Given the description of an element on the screen output the (x, y) to click on. 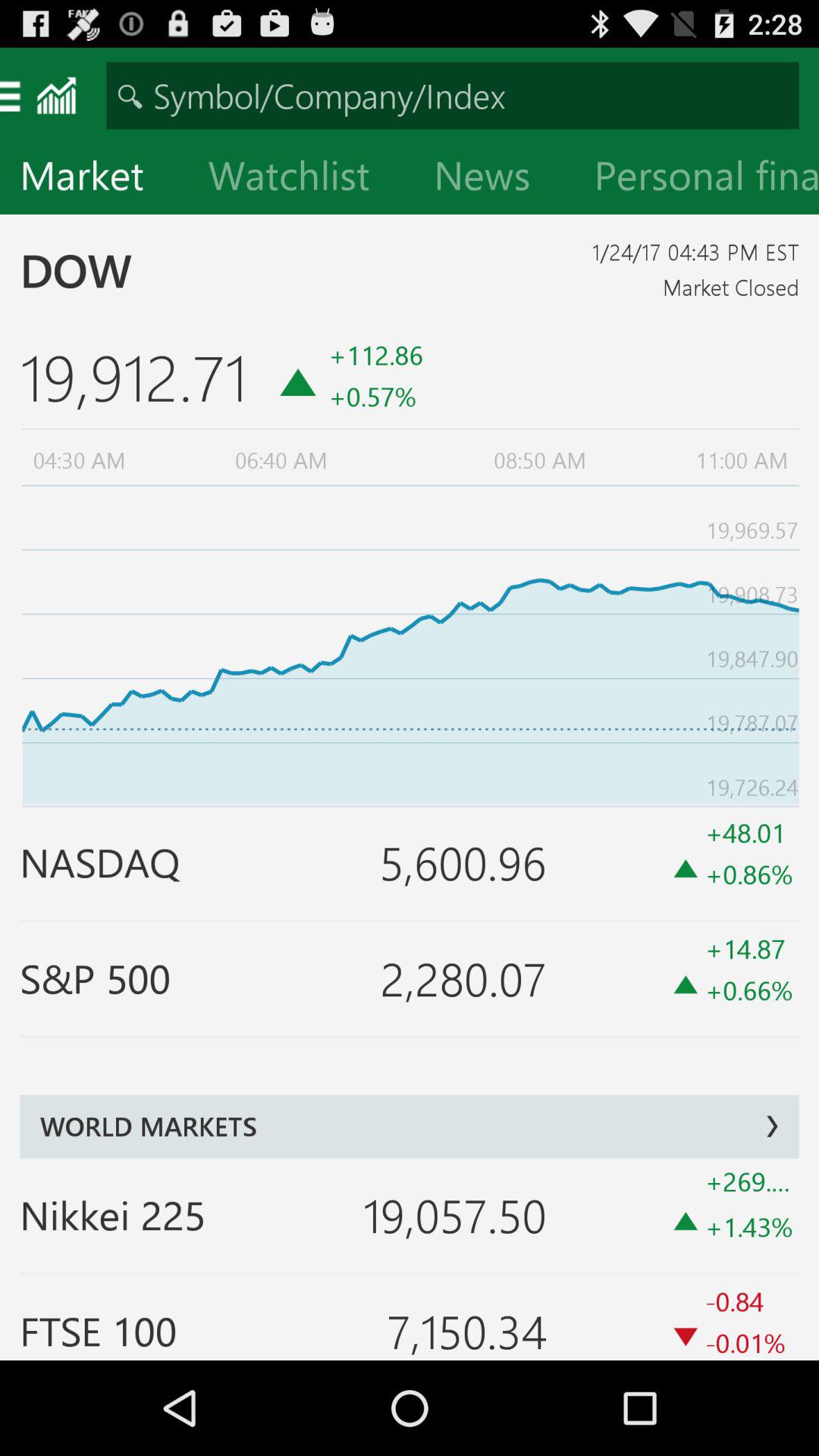
turn off item to the right of the market item (301, 178)
